Given the description of an element on the screen output the (x, y) to click on. 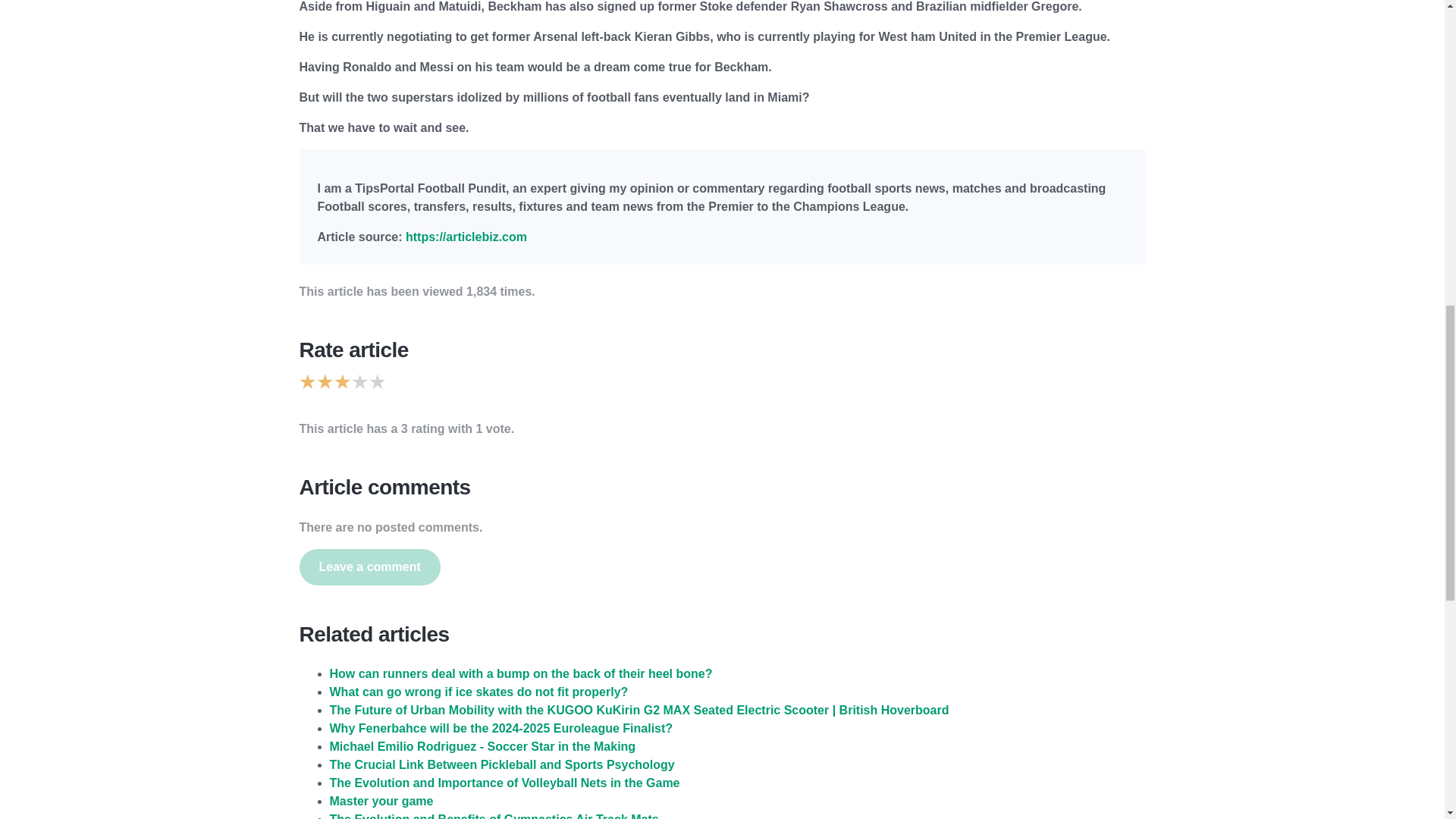
The Crucial Link Between Pickleball and Sports Psychology (501, 764)
Leave a comment (368, 566)
What can go wrong if ice skates do not fit properly? (478, 691)
The Evolution and Importance of Volleyball Nets in the Game (504, 782)
Why Fenerbahce will be the 2024-2025 Euroleague Finalist? (500, 727)
Master your game (380, 800)
Michael Emilio Rodriguez - Soccer Star in the Making (481, 746)
The Evolution and Benefits of Gymnastics Air Track Mats (493, 816)
